Given the description of an element on the screen output the (x, y) to click on. 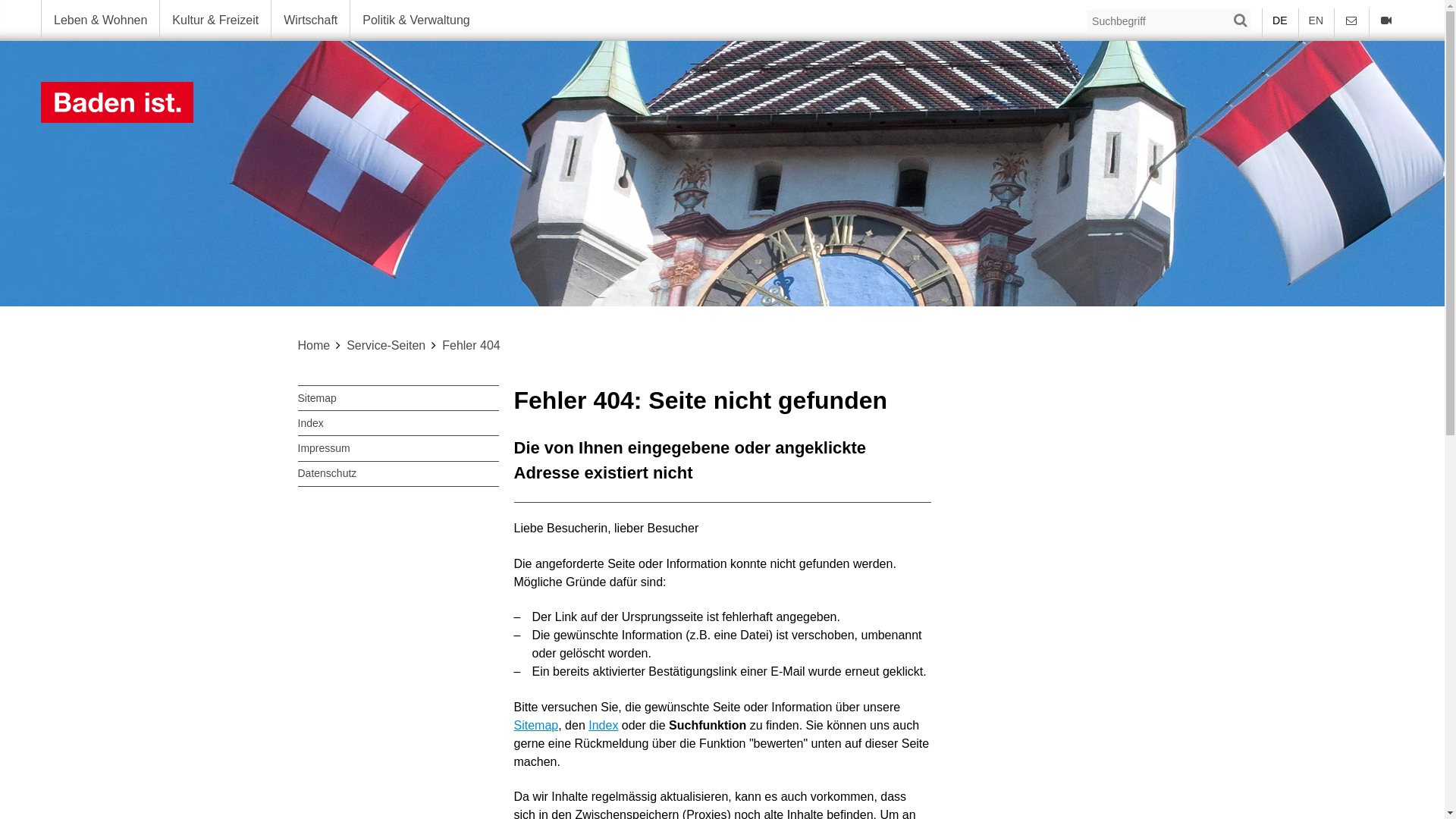
Fehler 404 Element type: text (471, 344)
Webcam Element type: hover (1385, 20)
Politik & Verwaltung Element type: text (415, 20)
Sitemap Element type: text (397, 398)
Index Element type: text (397, 423)
Kontakt Element type: hover (1350, 20)
Kultur & Freizeit Element type: text (214, 20)
Datenschutz Element type: text (397, 473)
EN Element type: text (1315, 20)
Sitemap Element type: text (536, 724)
Impressum Element type: text (397, 448)
Service-Seiten Element type: text (385, 344)
Leben & Wohnen Element type: text (99, 20)
Home Element type: hover (721, 101)
Index Element type: text (603, 724)
Home Element type: text (313, 344)
DE Element type: text (1279, 20)
Wirtschaft Element type: text (309, 20)
